Given the description of an element on the screen output the (x, y) to click on. 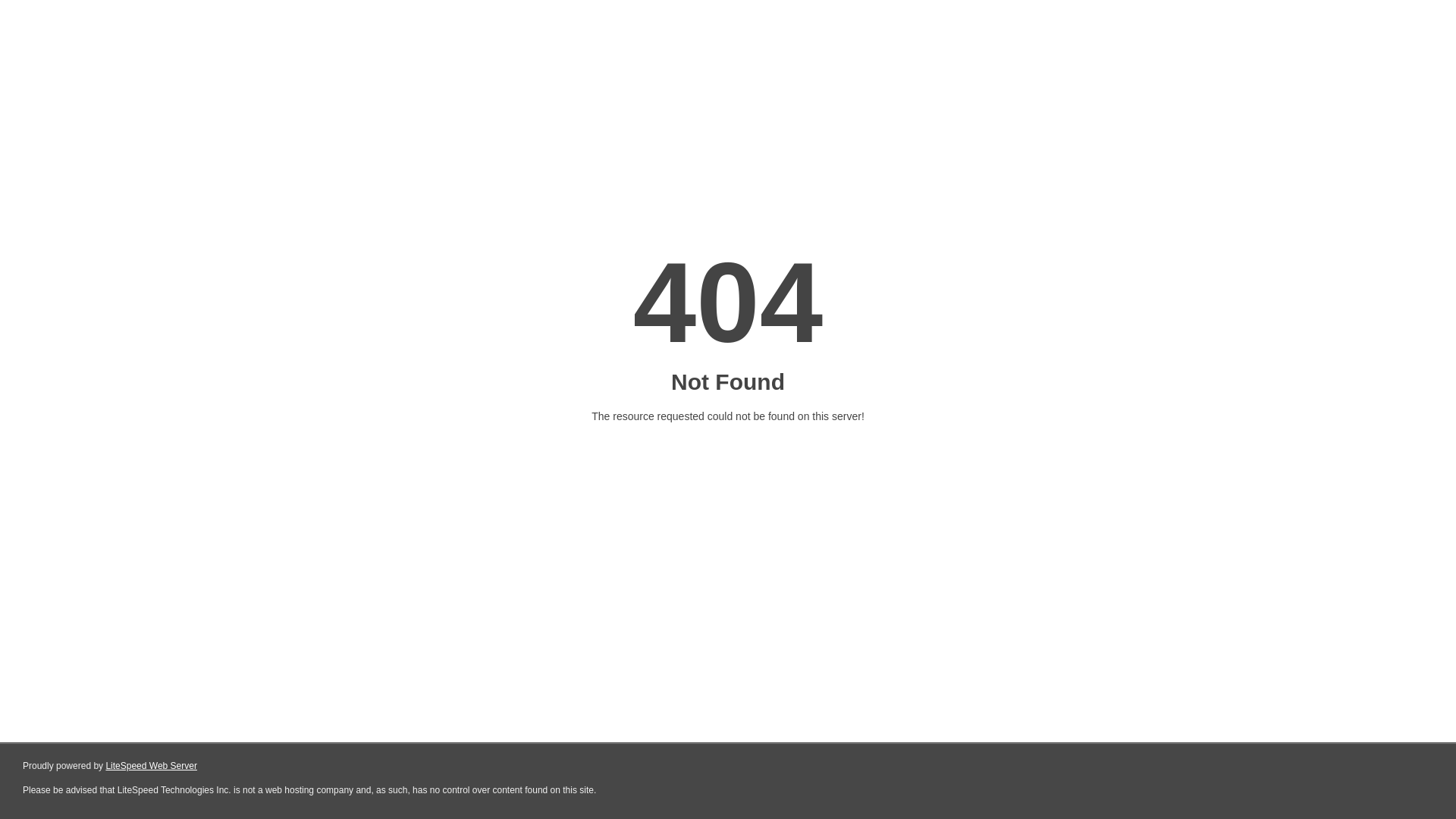
LiteSpeed Web Server Element type: text (151, 765)
